Given the description of an element on the screen output the (x, y) to click on. 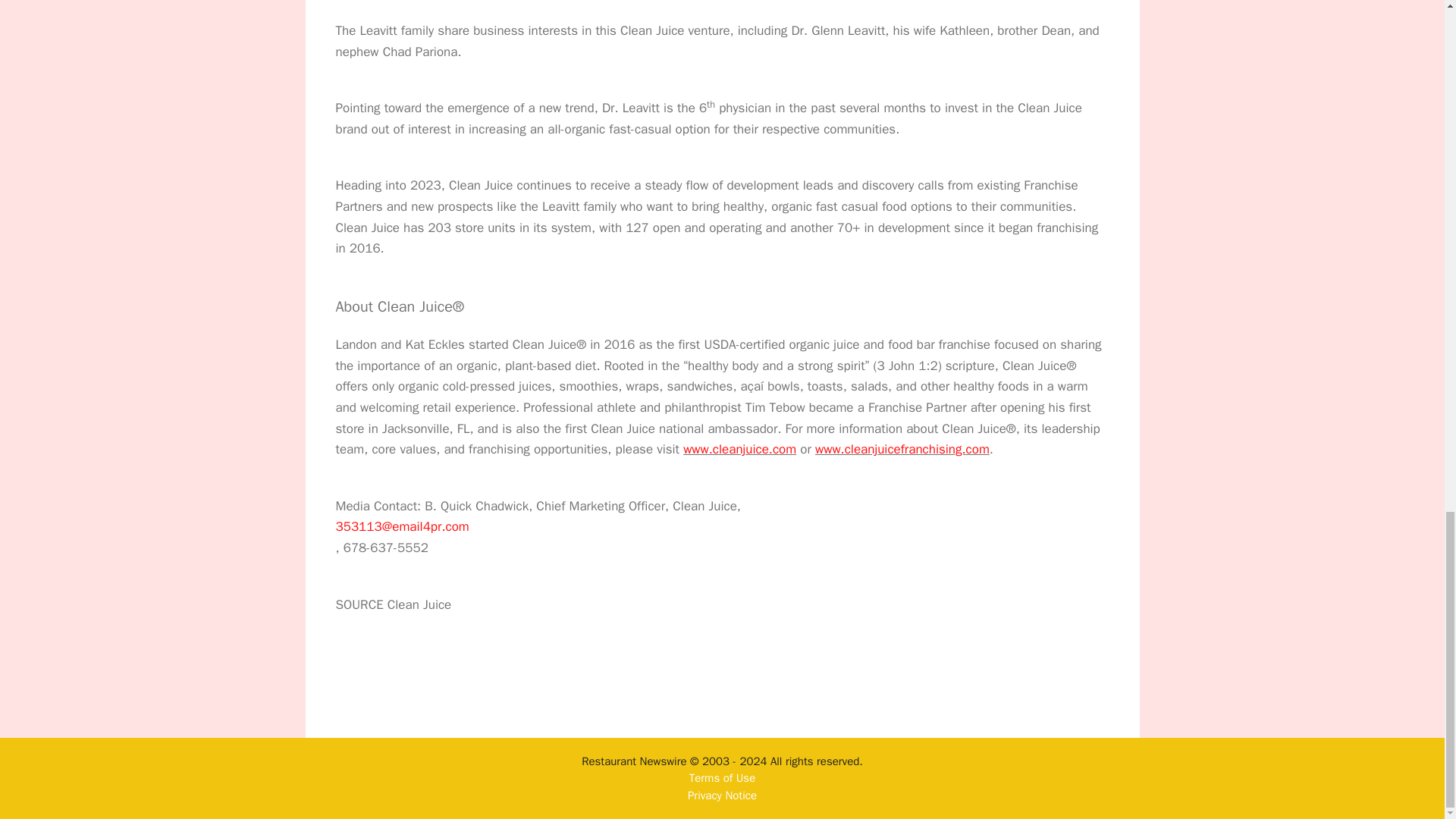
www.cleanjuice.com (739, 449)
Privacy Notice (722, 795)
www.cleanjuicefranchising.com (902, 449)
Terms of Use (721, 777)
